Given the description of an element on the screen output the (x, y) to click on. 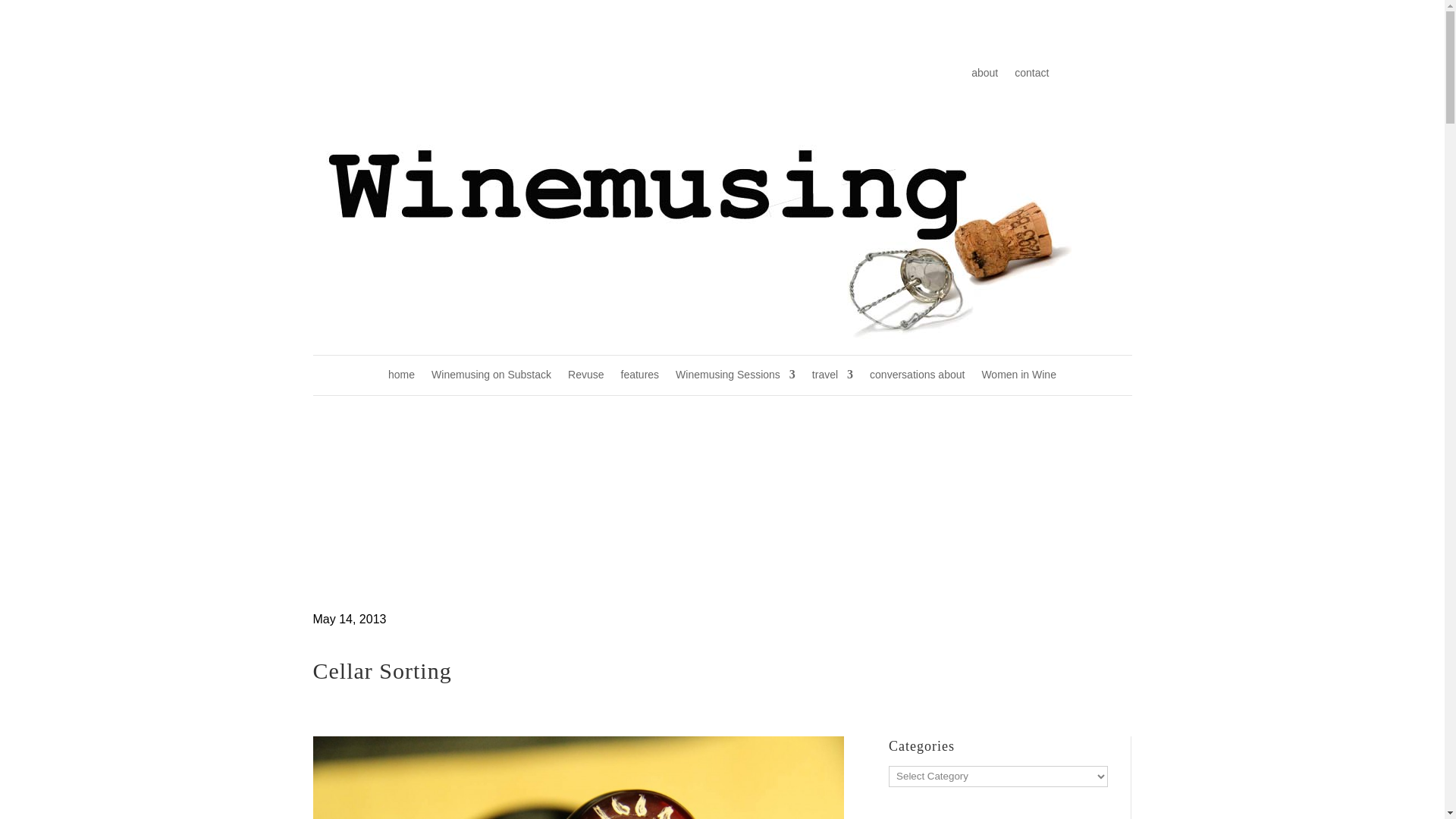
Follow on Instagram (706, 73)
Winemusing Sessions (734, 377)
Follow on Pinterest (797, 73)
about (984, 75)
contact (1031, 75)
Follow on X (675, 73)
conversations about (916, 377)
Winemusing on Substack (490, 377)
Women in Wine (1019, 377)
features (640, 377)
Follow on LinkedIn (766, 73)
Revuse (585, 377)
Follow on Facebook (645, 73)
home (401, 377)
cellarcodewmsml (578, 777)
